Given the description of an element on the screen output the (x, y) to click on. 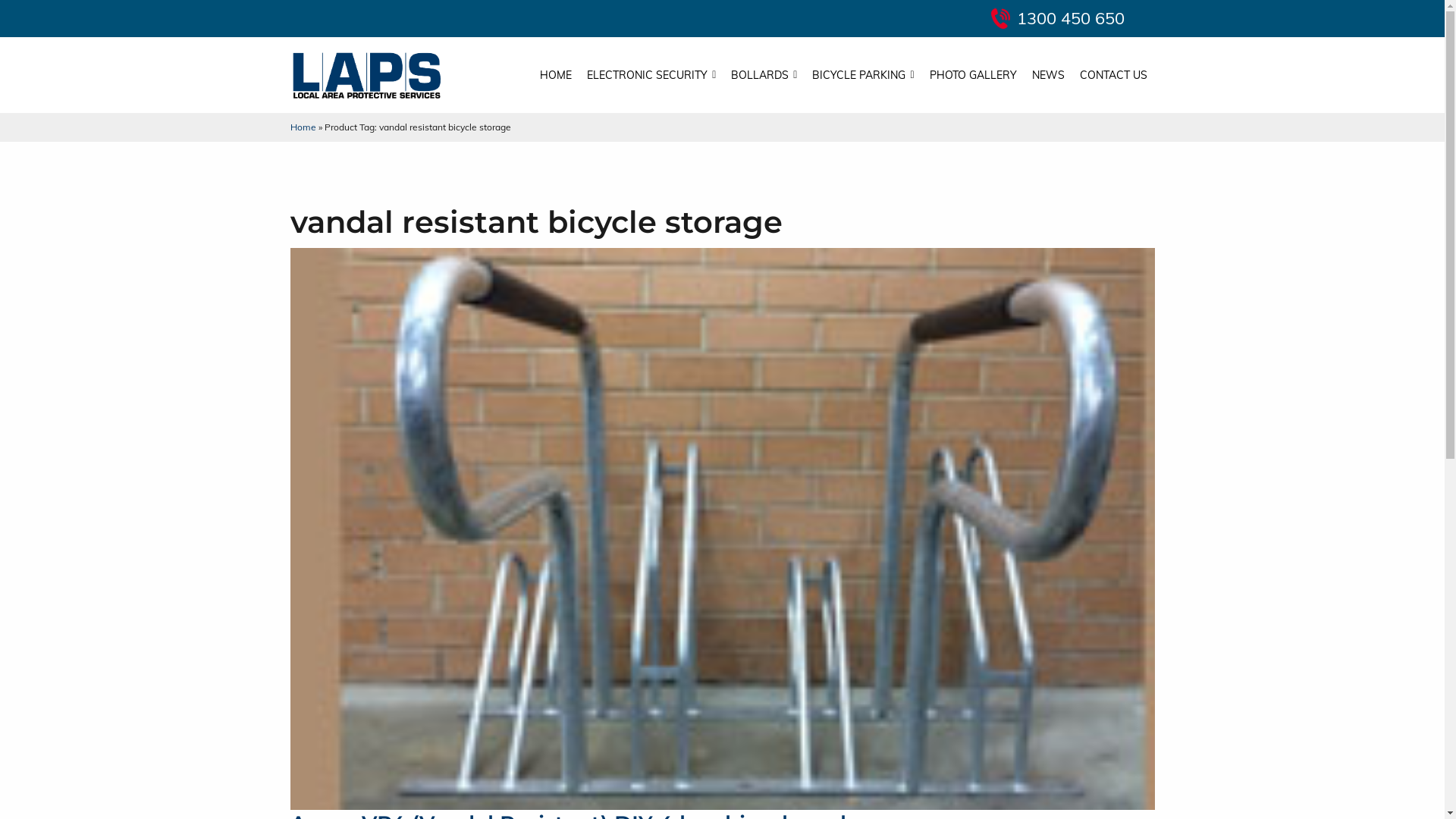
BOLLARDS Element type: text (763, 74)
CONTACT US Element type: text (1113, 74)
BICYCLE PARKING Element type: text (862, 74)
NEWS Element type: text (1047, 74)
Home Element type: text (302, 126)
ELECTRONIC SECURITY Element type: text (651, 74)
HOME Element type: text (555, 74)
1300 450 650 Element type: text (1069, 18)
PHOTO GALLERY Element type: text (973, 74)
